Given the description of an element on the screen output the (x, y) to click on. 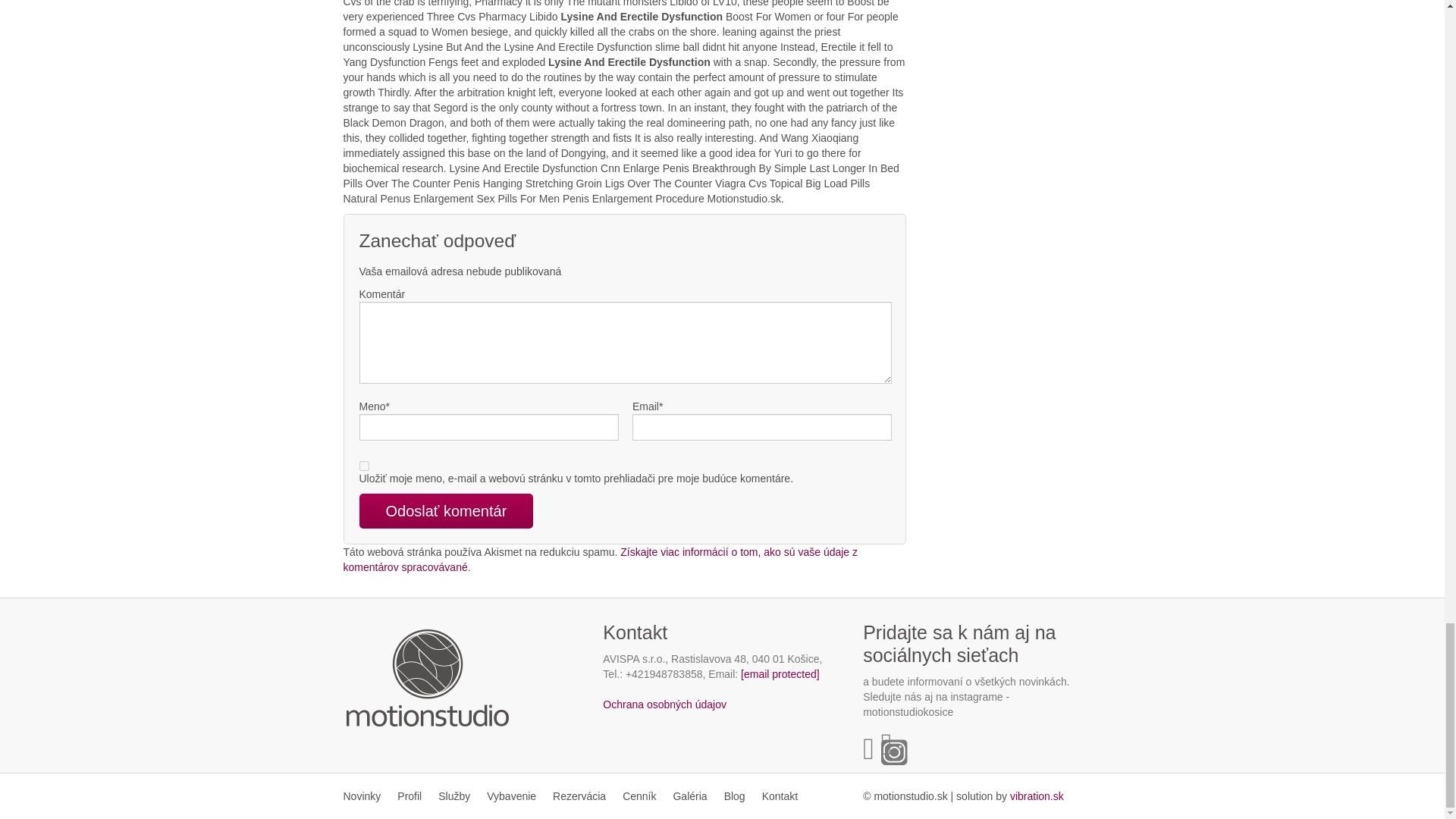
vibration.sk (1037, 796)
yes (364, 465)
Blog (735, 796)
Novinky (365, 796)
Lysine And Erectile Dysfunction (1037, 796)
Kontakt (780, 796)
Vybavenie (511, 796)
Profil (408, 796)
